Given the description of an element on the screen output the (x, y) to click on. 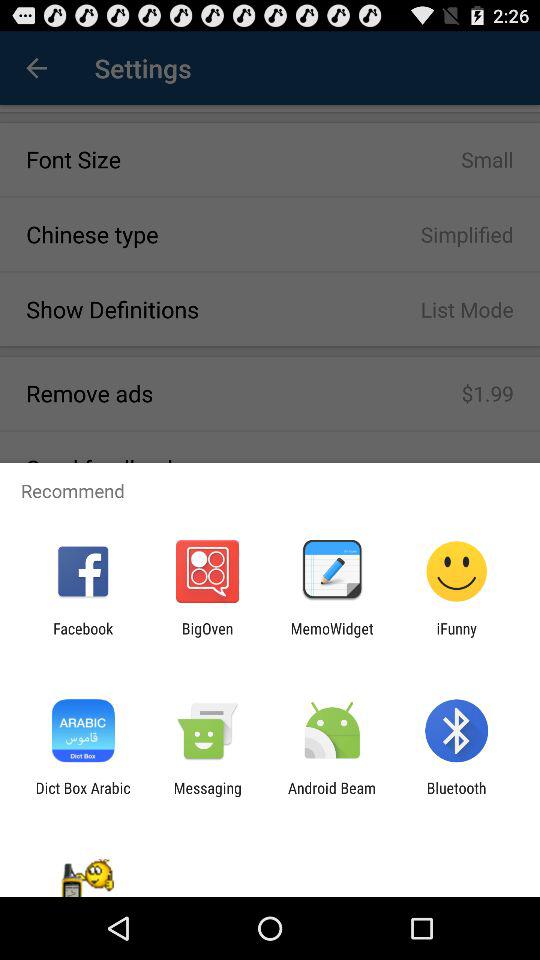
select icon next to the messaging icon (82, 796)
